Given the description of an element on the screen output the (x, y) to click on. 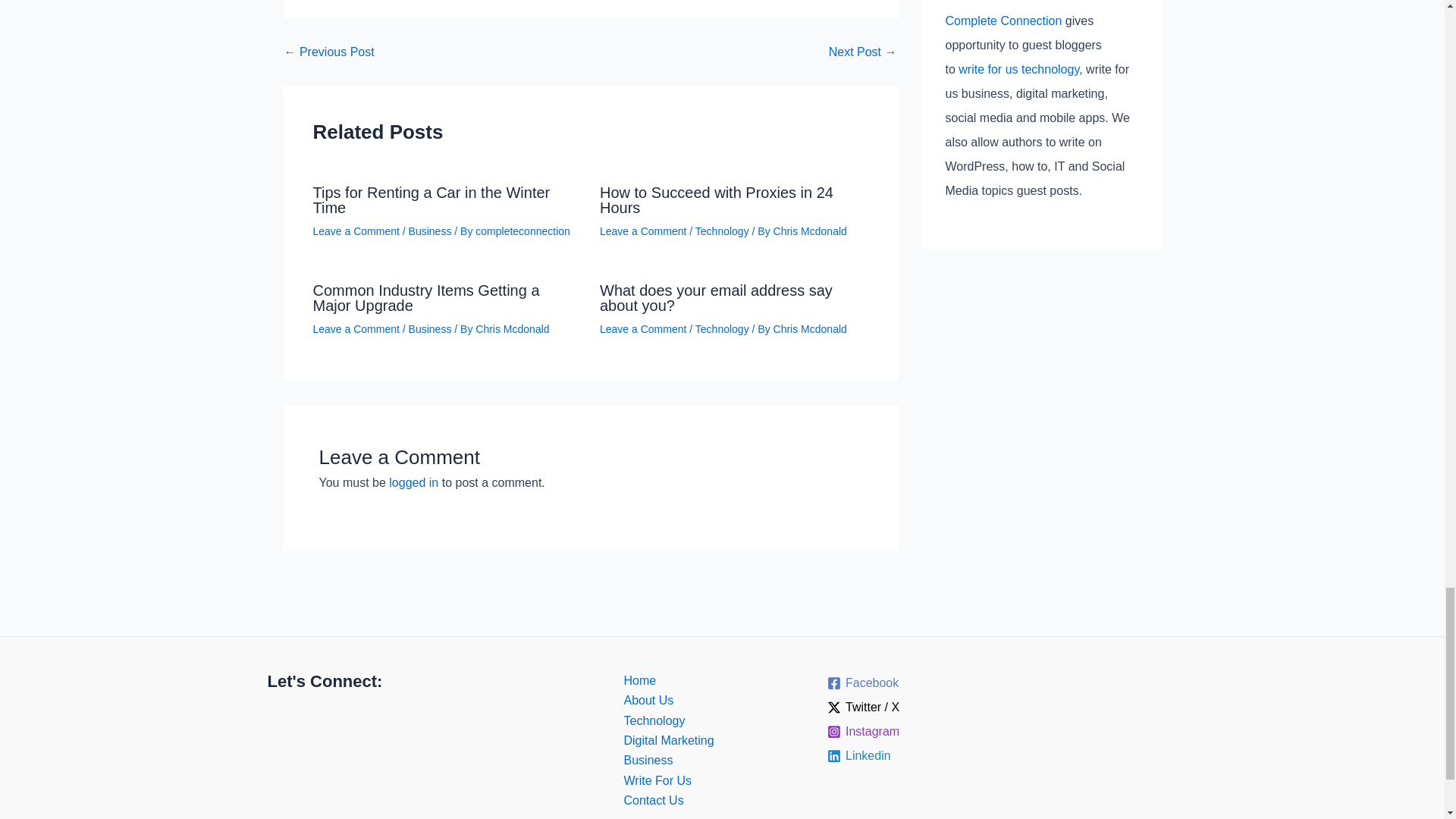
How to Succeed with Proxies in 24 Hours (715, 200)
Business (430, 231)
completeconnection (523, 231)
View all posts by completeconnection (523, 231)
Technology (722, 231)
Leave a Comment (355, 231)
View all posts by Chris Mcdonald (810, 231)
Chris Mcdonald (810, 231)
Leave a Comment (642, 231)
